Given the description of an element on the screen output the (x, y) to click on. 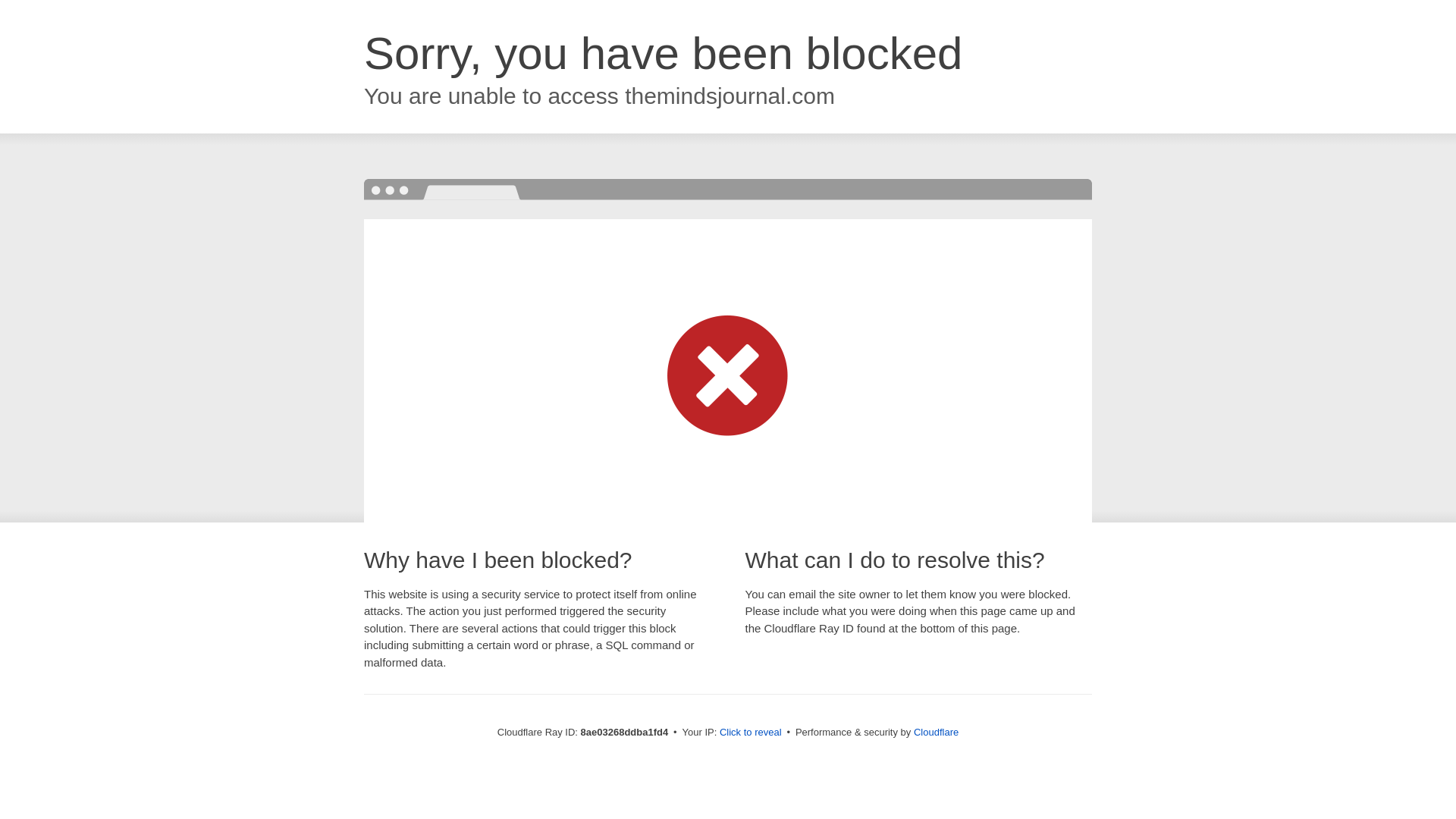
Click to reveal (750, 732)
Cloudflare (936, 731)
